Given the description of an element on the screen output the (x, y) to click on. 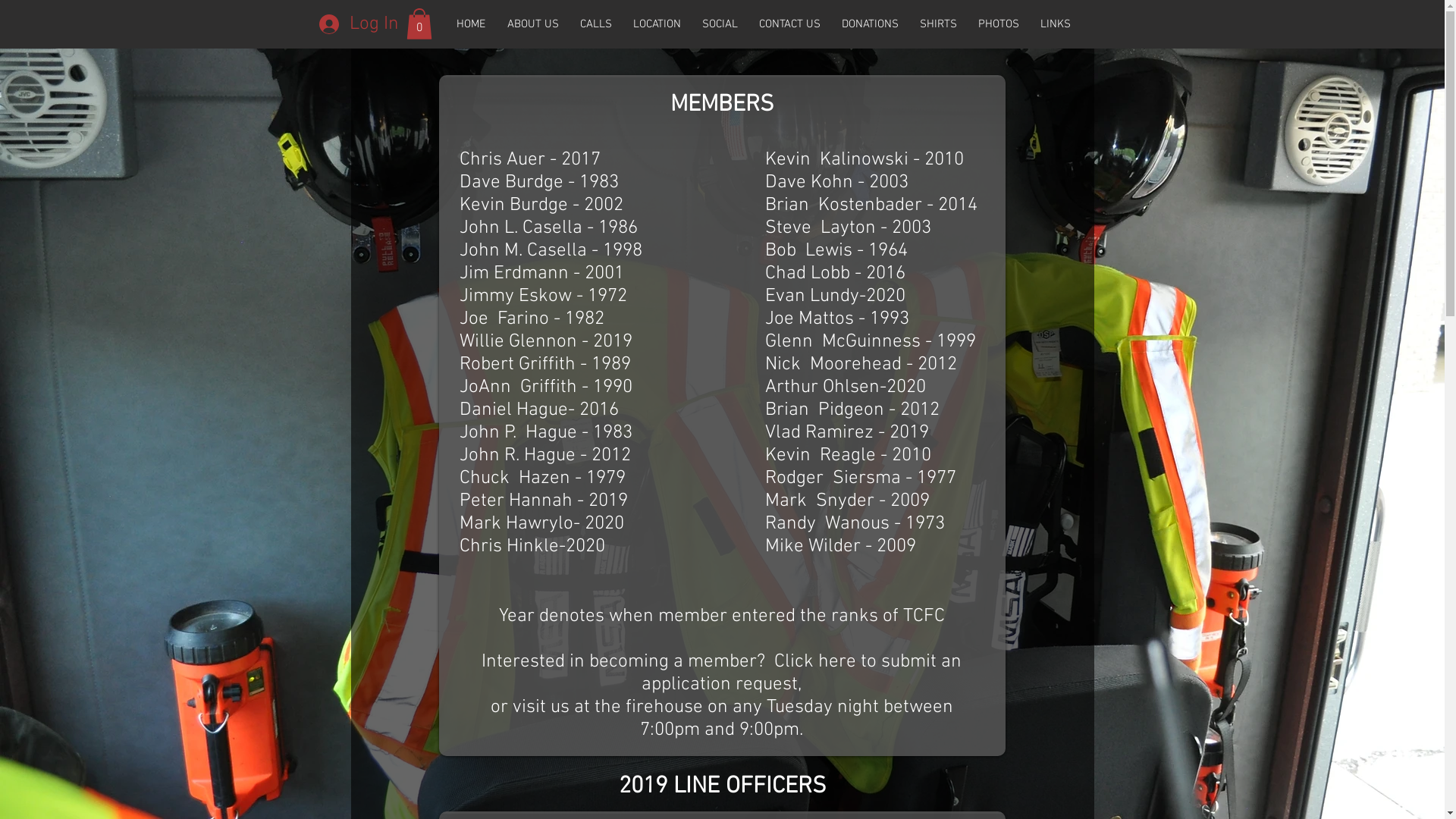
LINKS Element type: text (1055, 24)
SOCIAL Element type: text (719, 24)
SHIRTS Element type: text (937, 24)
0 Element type: text (419, 23)
LOCATION Element type: text (655, 24)
HOME Element type: text (470, 24)
DONATIONS Element type: text (870, 24)
PHOTOS Element type: text (998, 24)
CONTACT US Element type: text (788, 24)
ABOUT US Element type: text (531, 24)
Log In Element type: text (352, 23)
CALLS Element type: text (594, 24)
